Given the description of an element on the screen output the (x, y) to click on. 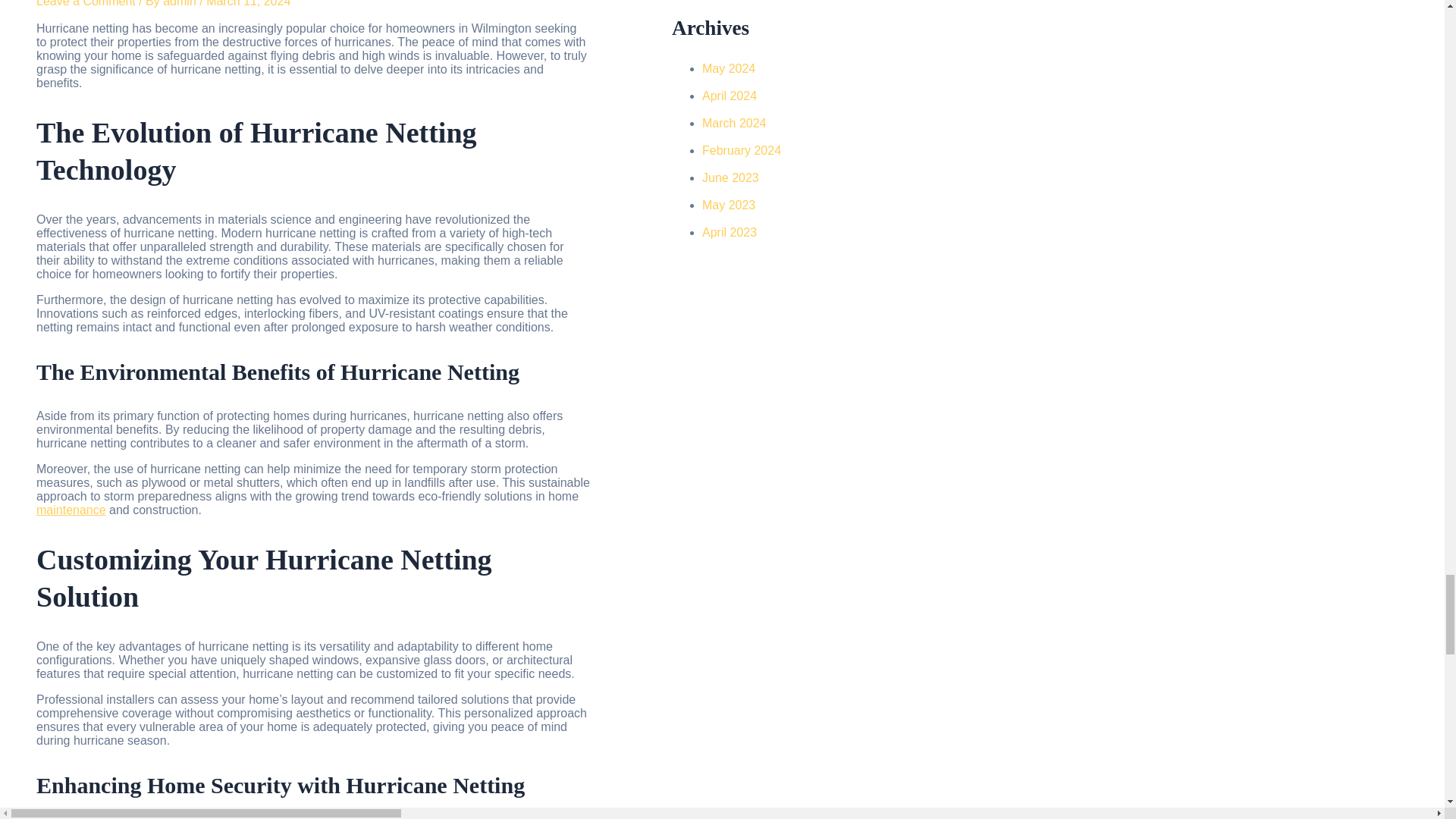
View all posts by admin (181, 3)
